Given the description of an element on the screen output the (x, y) to click on. 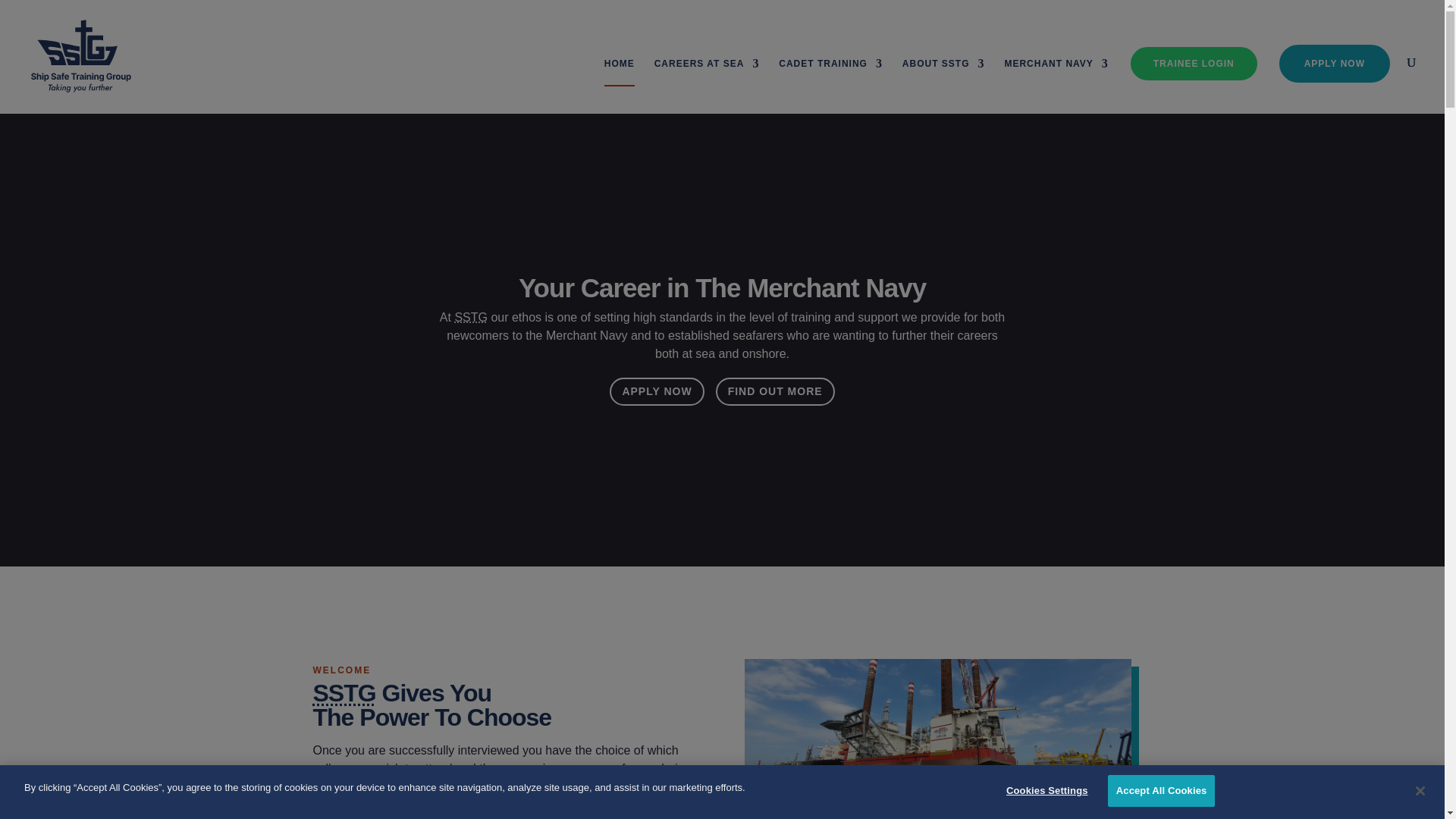
image2 (937, 739)
CAREERS AT SEA (706, 85)
CADET TRAINING (830, 85)
ABOUT SSTG (943, 85)
Ship Safe Training Group (470, 317)
Ship Safe Training Group (344, 692)
